Given the description of an element on the screen output the (x, y) to click on. 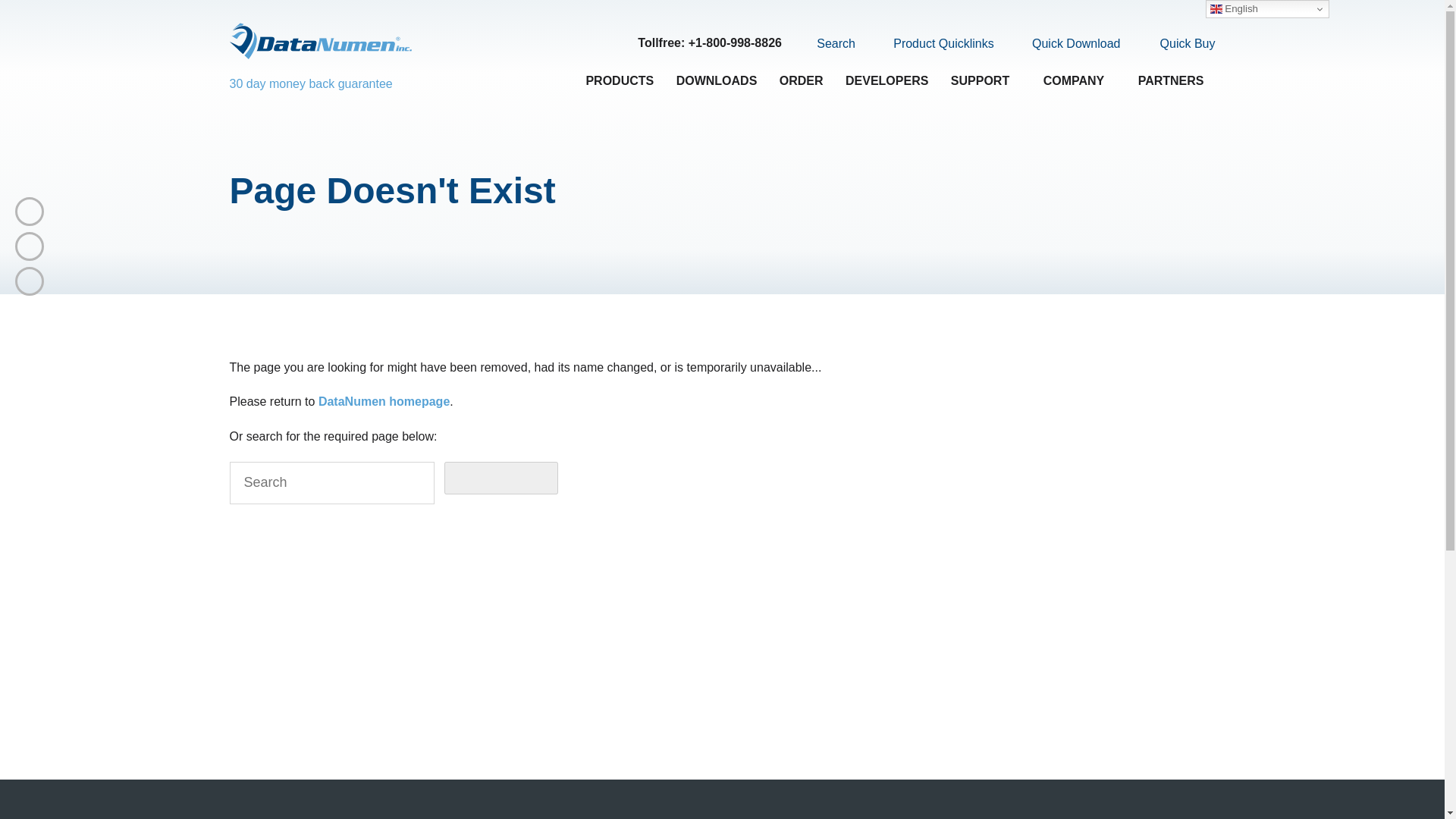
Product Quicklinks (934, 44)
Search (827, 43)
Search for: (330, 482)
Quick Download (1066, 44)
